Given the description of an element on the screen output the (x, y) to click on. 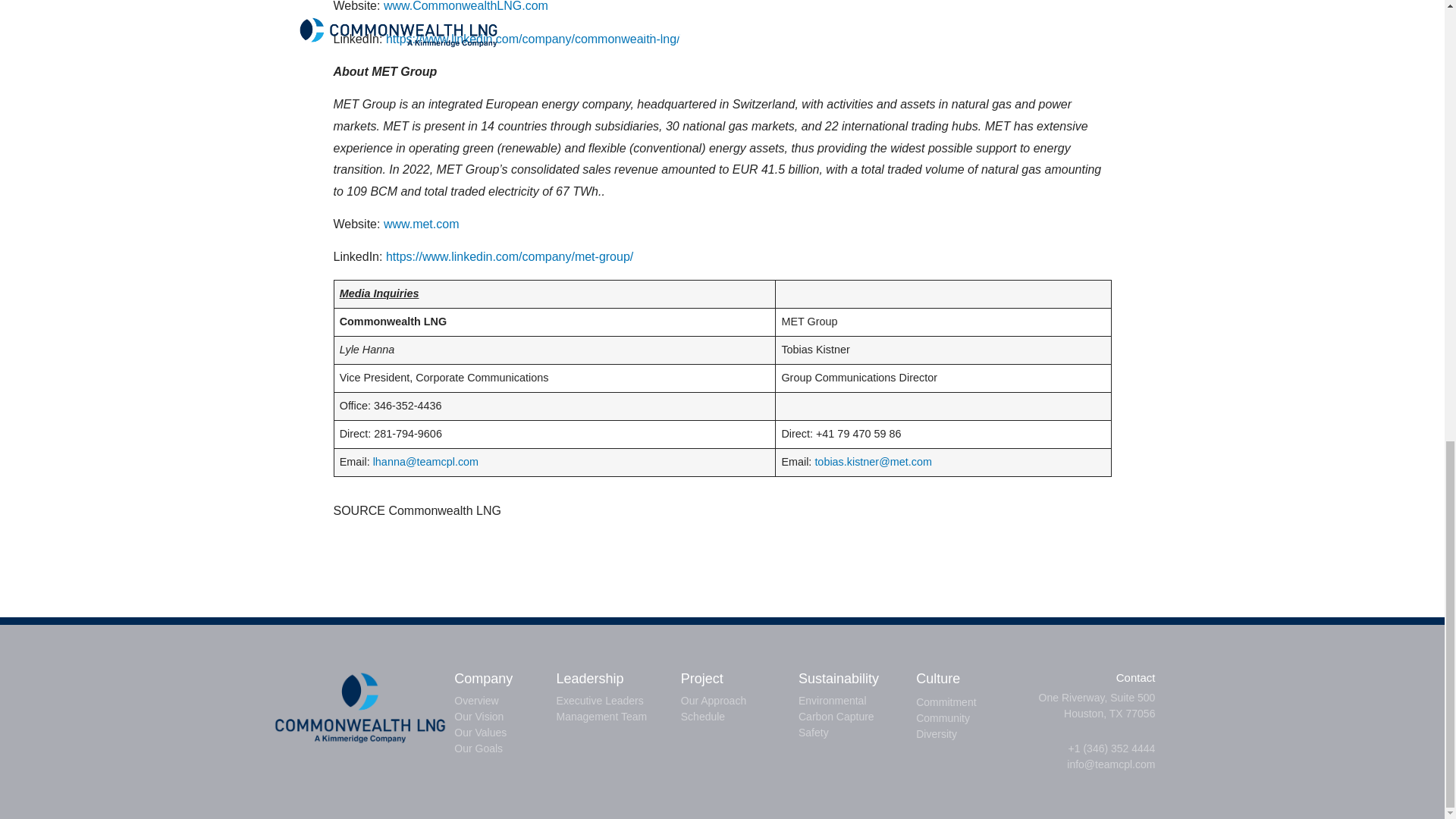
www.CommonwealthLNG.com (466, 6)
Our Goals (504, 748)
Our Vision (504, 716)
Our Values (504, 732)
www.met.com (422, 223)
Company (483, 678)
Leadership (590, 678)
Overview (504, 700)
